Given the description of an element on the screen output the (x, y) to click on. 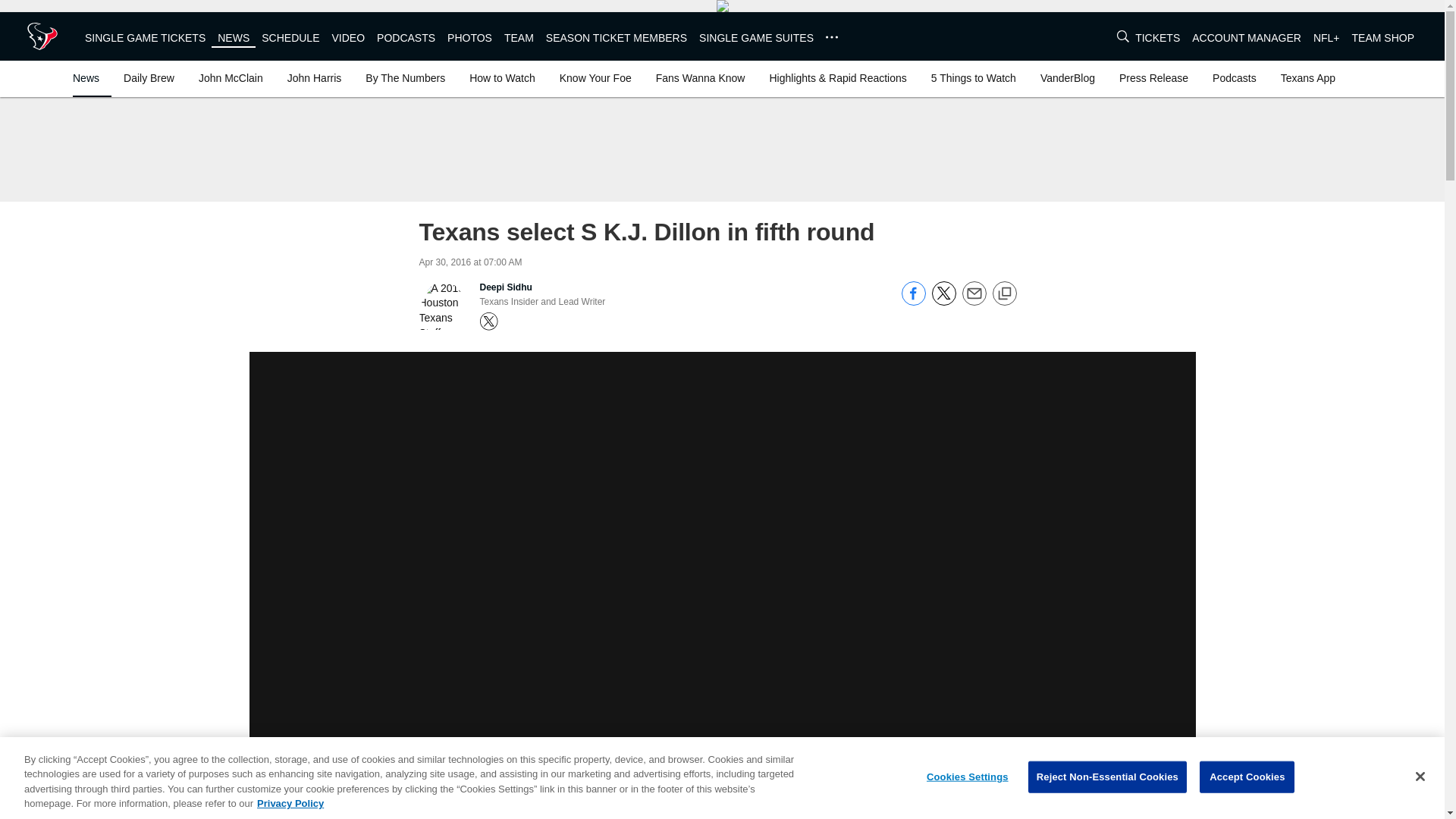
SINGLE GAME SUITES (755, 37)
... (831, 37)
TEAM SHOP (1382, 37)
VIDEO (348, 37)
Know Your Foe (595, 77)
John Harris (314, 77)
How to Watch (502, 77)
ACCOUNT MANAGER (1246, 37)
TICKETS (1157, 37)
PHOTOS (469, 37)
SCHEDULE (290, 37)
Fans Wanna Know (700, 77)
SCHEDULE (290, 37)
PHOTOS (469, 37)
Link to club's homepage (42, 36)
